Given the description of an element on the screen output the (x, y) to click on. 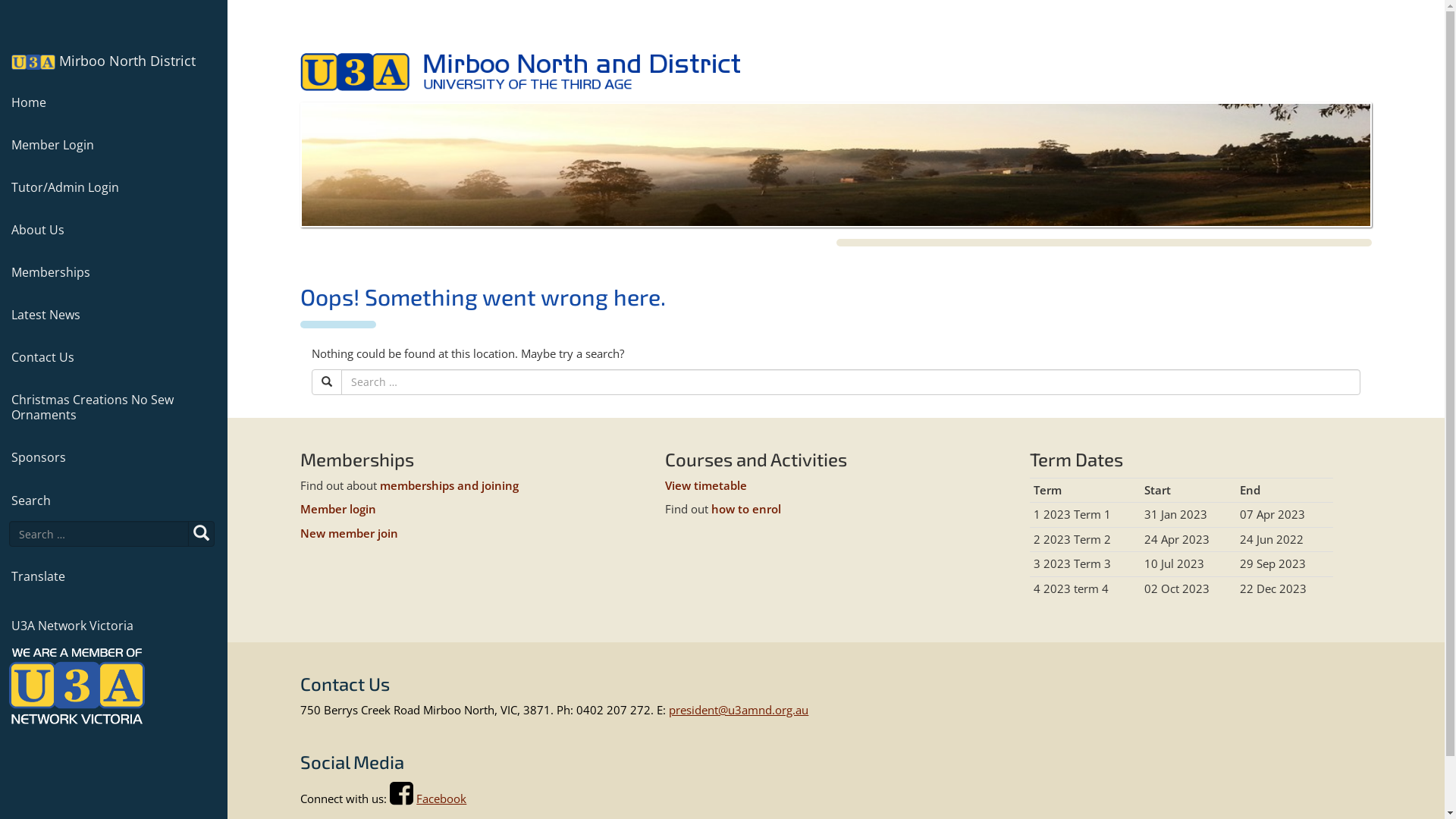
Tutor/Admin Login Element type: text (111, 187)
Facebook Element type: text (441, 798)
U3A Network Victoria Element type: text (111, 620)
memberships and joining Element type: text (448, 484)
Search for: Element type: hover (850, 382)
Christmas Creations No Sew Ornaments Element type: text (111, 407)
U3A Mirboo North District: University of the Third Age Element type: hover (519, 72)
Sponsors Element type: text (111, 457)
Contact Us Element type: text (111, 356)
New member join Element type: text (349, 532)
Search for: Element type: hover (98, 533)
Mirboo North District Element type: text (103, 61)
president@u3amnd.org.au Element type: text (738, 709)
Home Element type: text (111, 102)
Member login Element type: text (338, 508)
Memberships Element type: text (111, 272)
Latest News Element type: text (111, 314)
About Us Element type: text (111, 229)
View timetable Element type: text (705, 484)
Member Login Element type: text (111, 144)
how to enrol Element type: text (746, 508)
